Given the description of an element on the screen output the (x, y) to click on. 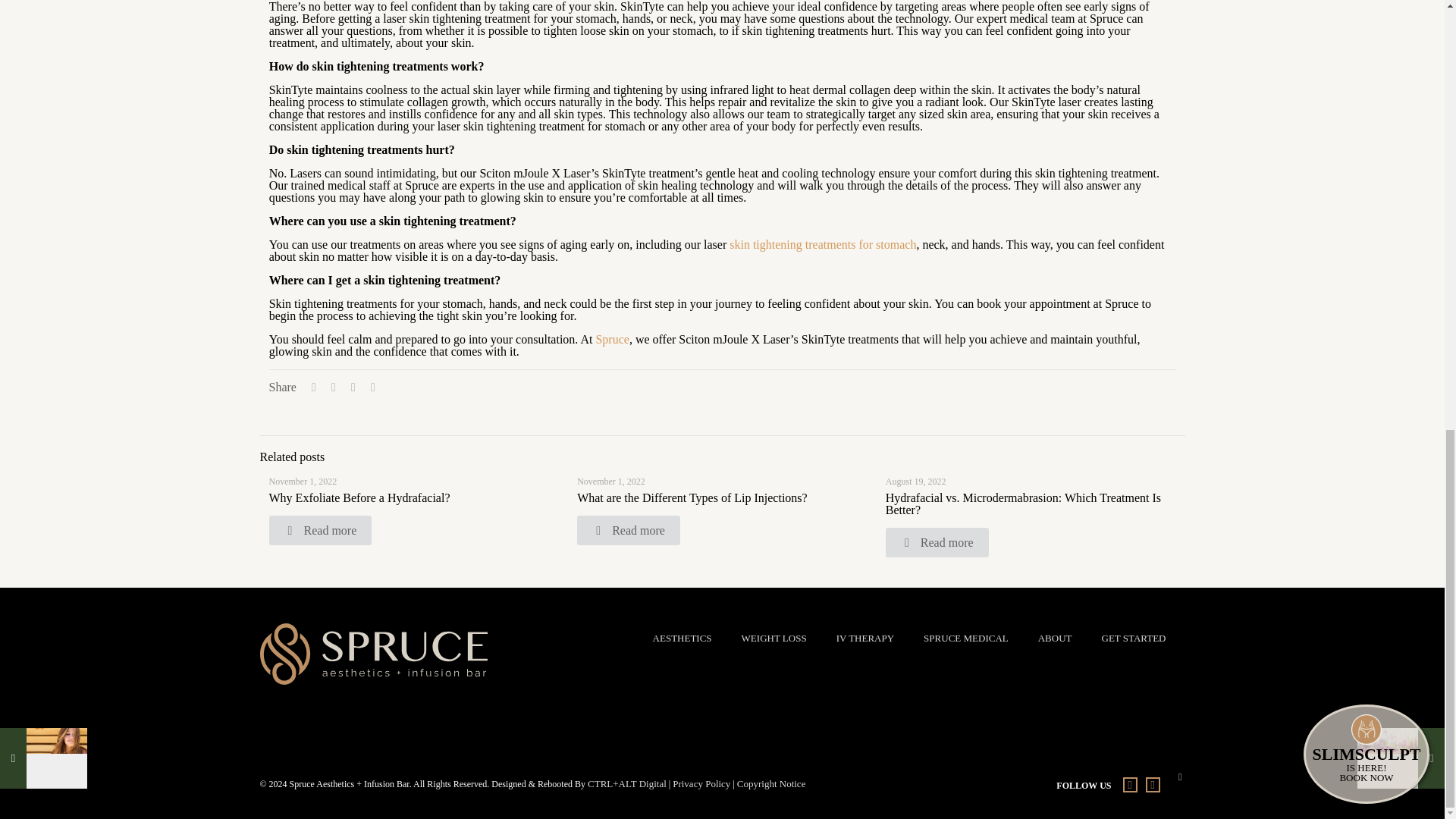
Facebook (1128, 784)
Instagram (1150, 784)
